Given the description of an element on the screen output the (x, y) to click on. 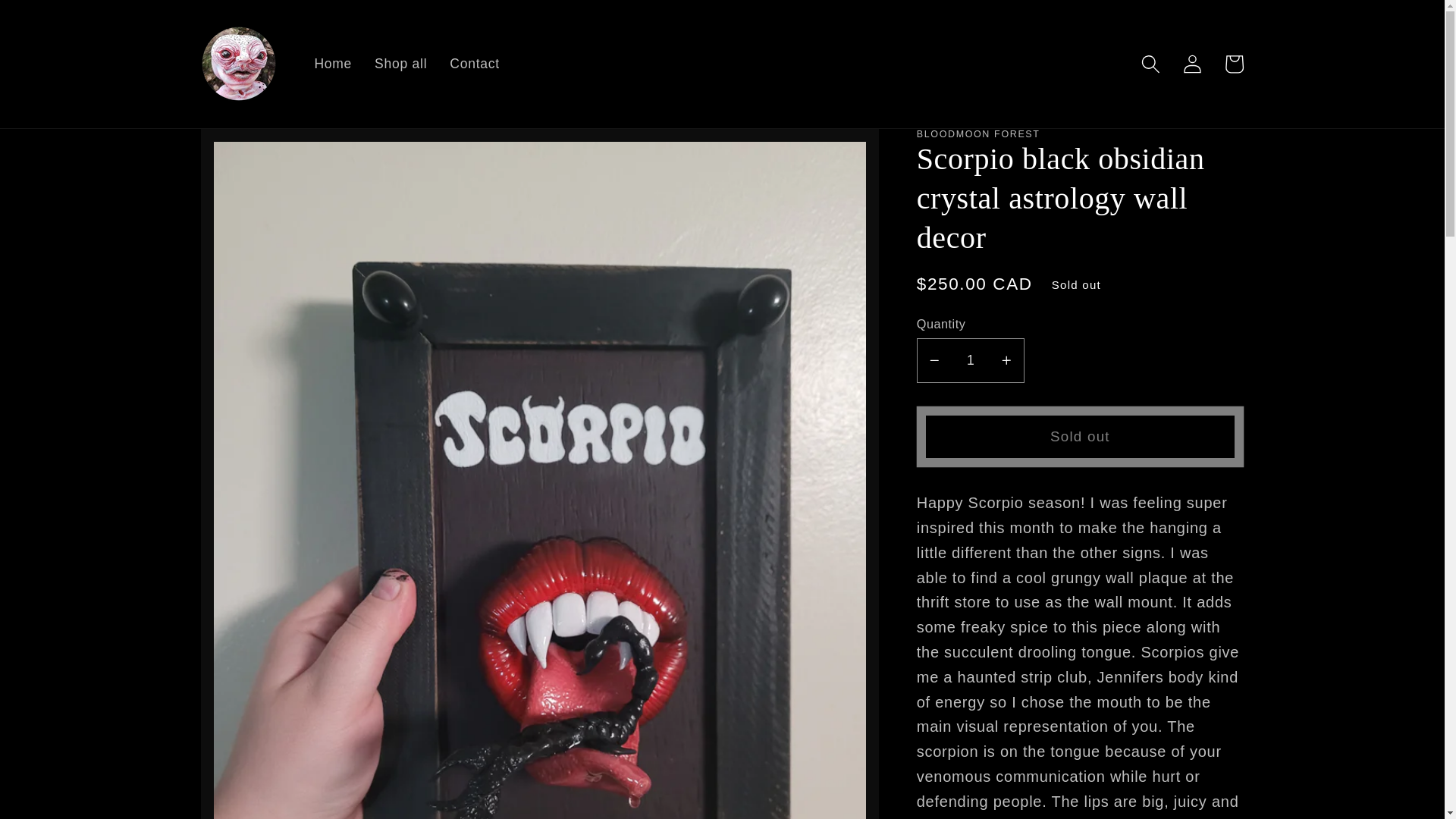
Contact (474, 64)
Skip to content (65, 29)
Sold out (1080, 436)
Home (332, 64)
Log in (1192, 64)
Skip to product information (265, 158)
Shop all (400, 64)
Cart (1233, 64)
